Given the description of an element on the screen output the (x, y) to click on. 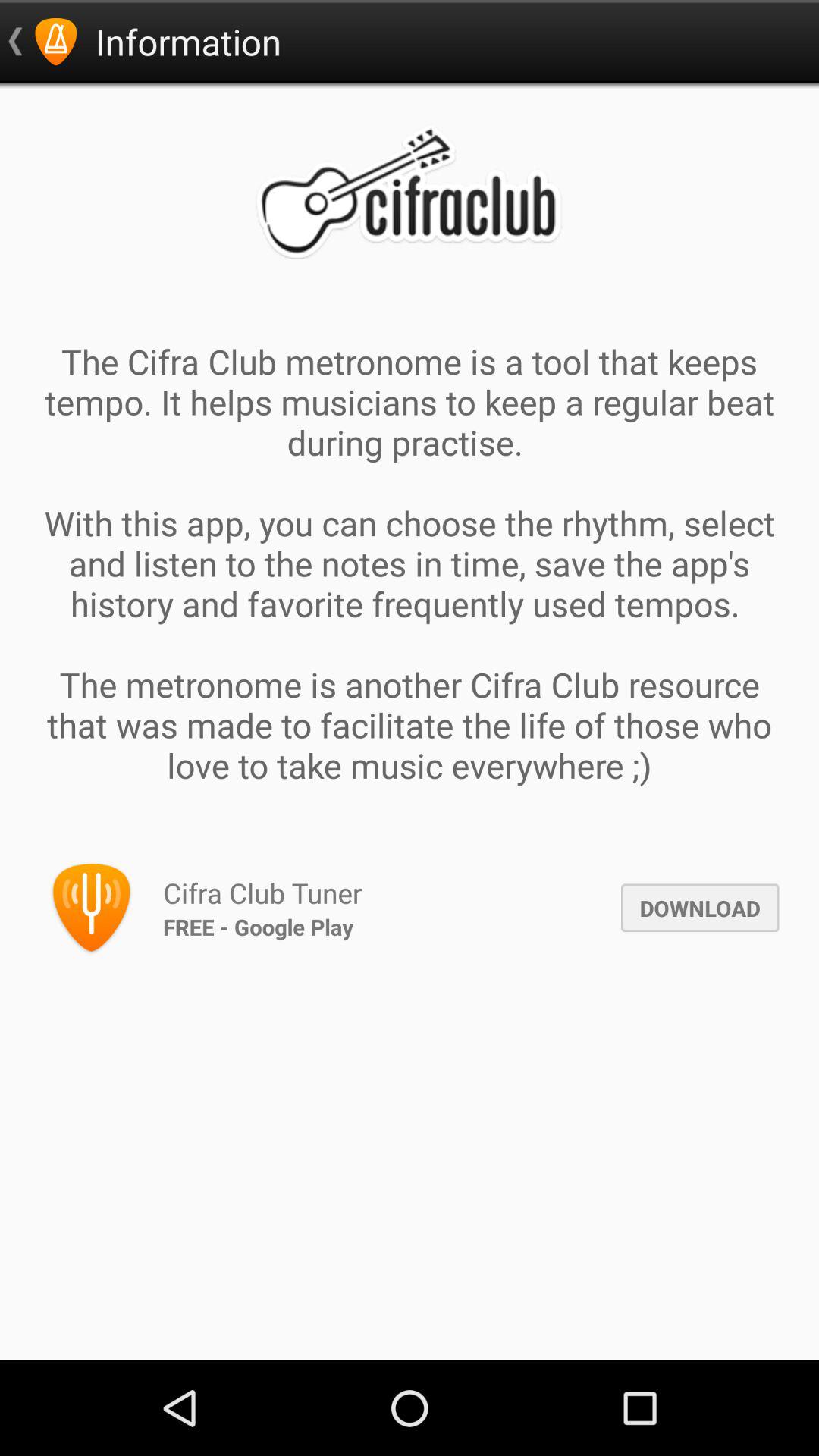
jump until download icon (700, 907)
